Given the description of an element on the screen output the (x, y) to click on. 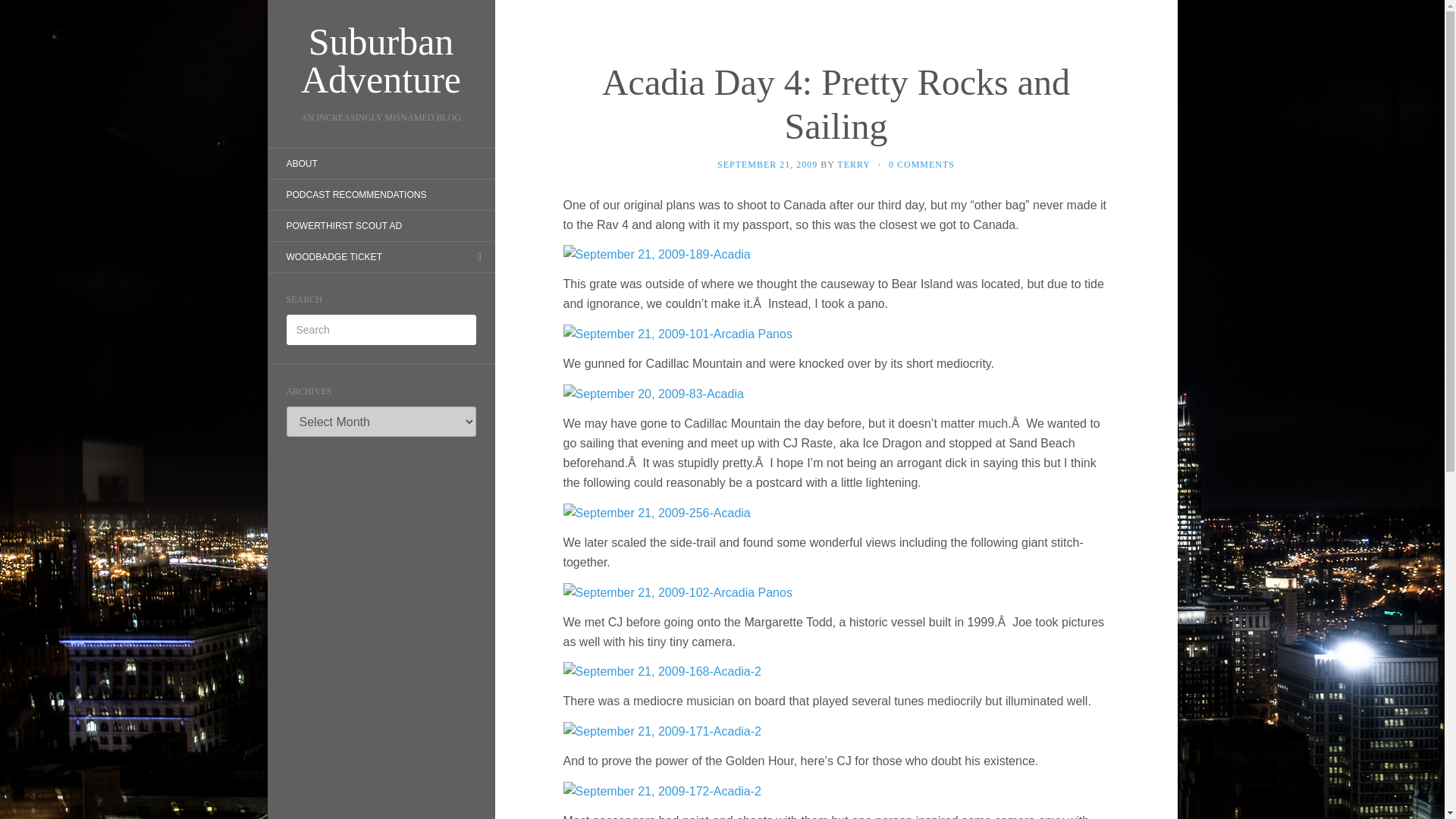
Search (22, 11)
September 21, 2009-172-Acadia-2 (661, 789)
PODCAST RECOMMENDATIONS (355, 194)
September 21, 2009-168-Acadia-2 (661, 671)
September 20, 2009-83-Acadia (652, 392)
September 21, 2009-171-Acadia-2 (661, 730)
September 21, 2009-102-Arcadia Panos (677, 591)
0 COMMENTS (921, 163)
ABOUT (301, 163)
September 21, 2009-101-Arcadia Panos (677, 332)
September 21, 2009-189-Acadia (655, 254)
September 21, 2009-256-Acadia (655, 512)
WOODBADGE TICKET (333, 257)
POWERTHIRST SCOUT AD (343, 225)
Suburban Adventure (380, 60)
